Given the description of an element on the screen output the (x, y) to click on. 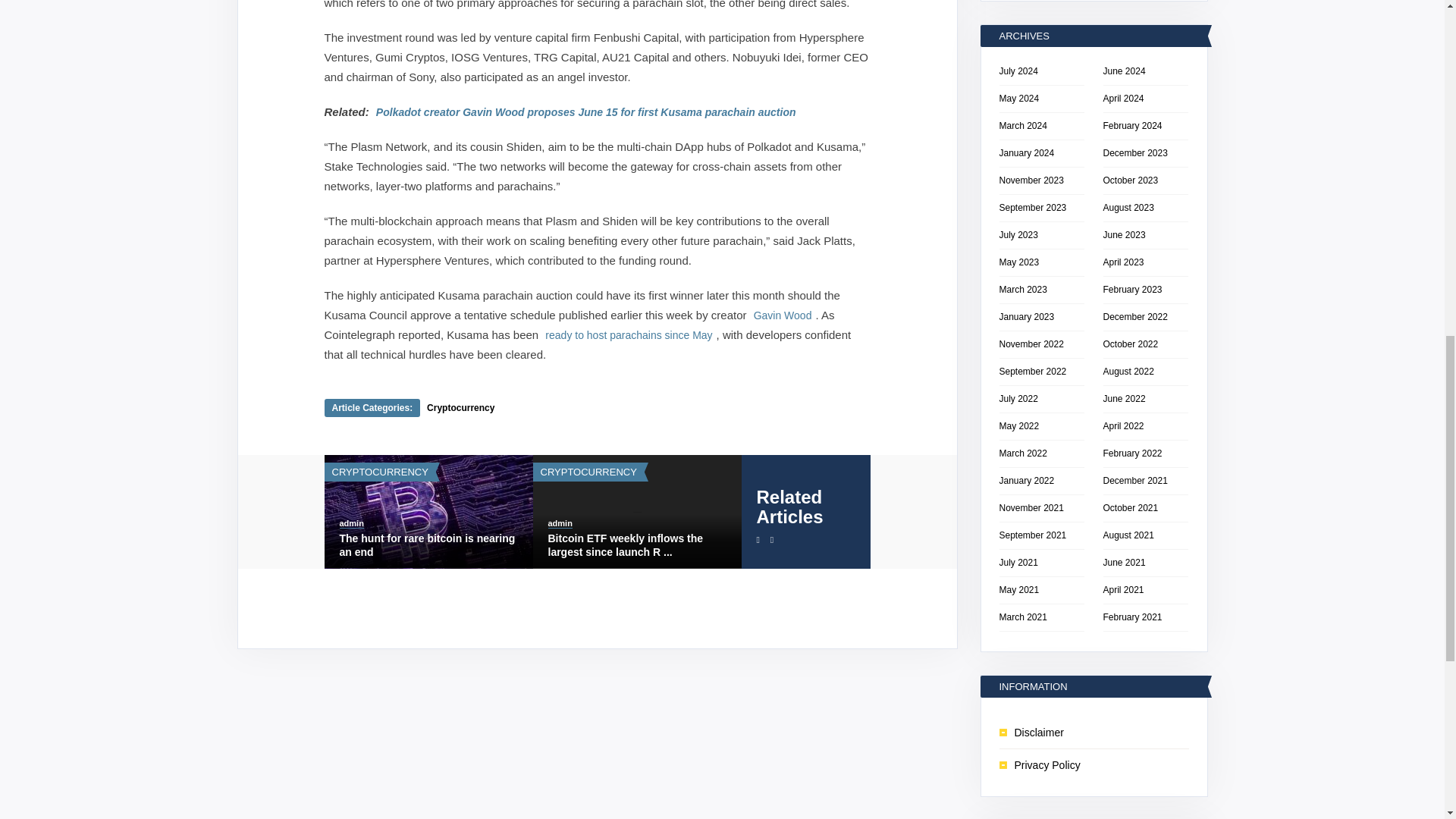
CRYPTOCURRENCY (588, 471)
Gavin Wood (782, 314)
Bitcoin ETF weekly inflows the largest since launch R ... (636, 544)
View all posts in Cryptocurrency (588, 471)
The hunt for rare bitcoin is nearing an end (428, 544)
admin (351, 523)
Posts by admin (351, 523)
admin (559, 523)
Cryptocurrency (460, 407)
View all posts in Cryptocurrency (379, 471)
CRYPTOCURRENCY (379, 471)
ready to host parachains since May (628, 334)
